Given the description of an element on the screen output the (x, y) to click on. 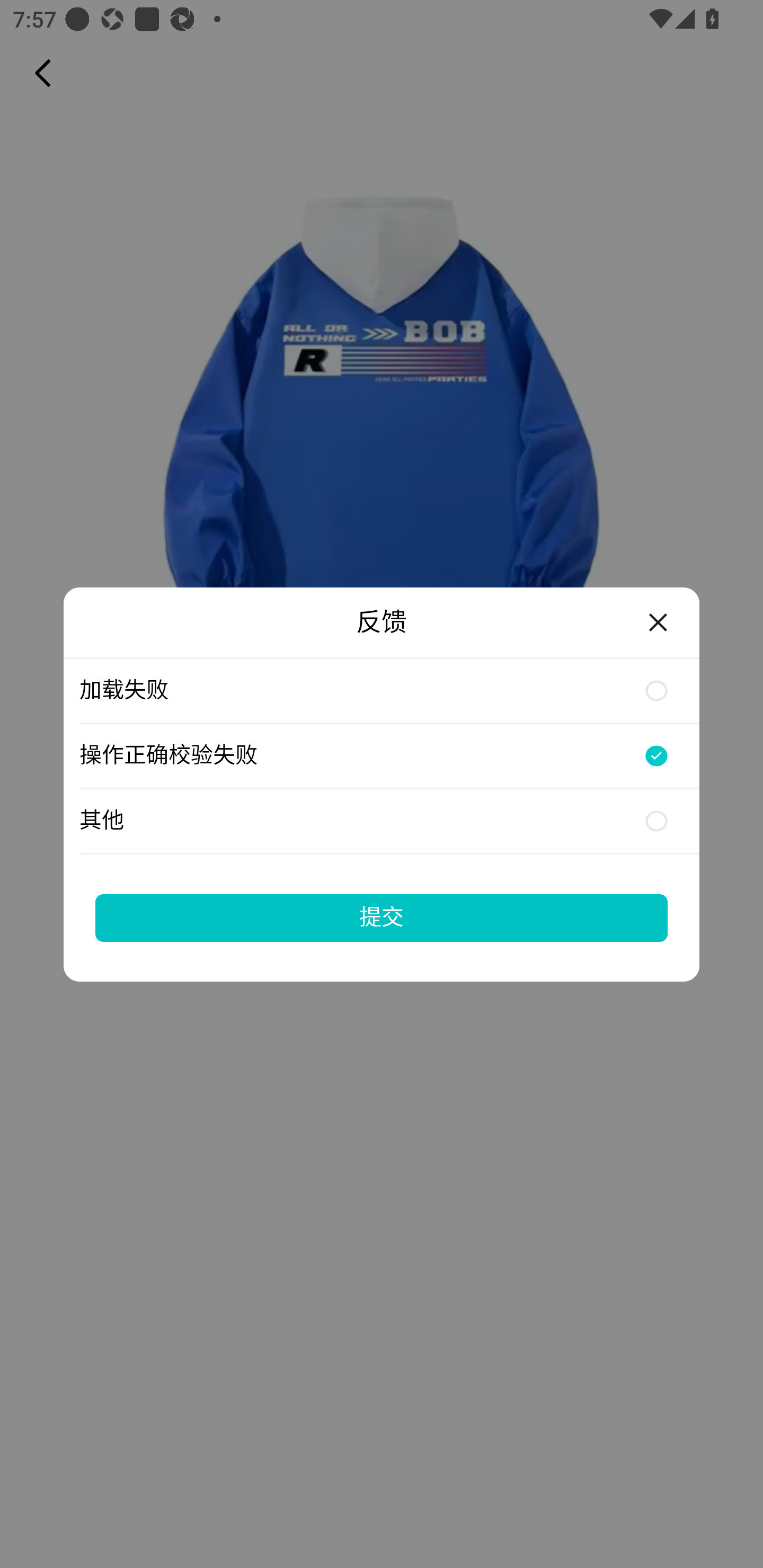
提交 (381, 917)
